Given the description of an element on the screen output the (x, y) to click on. 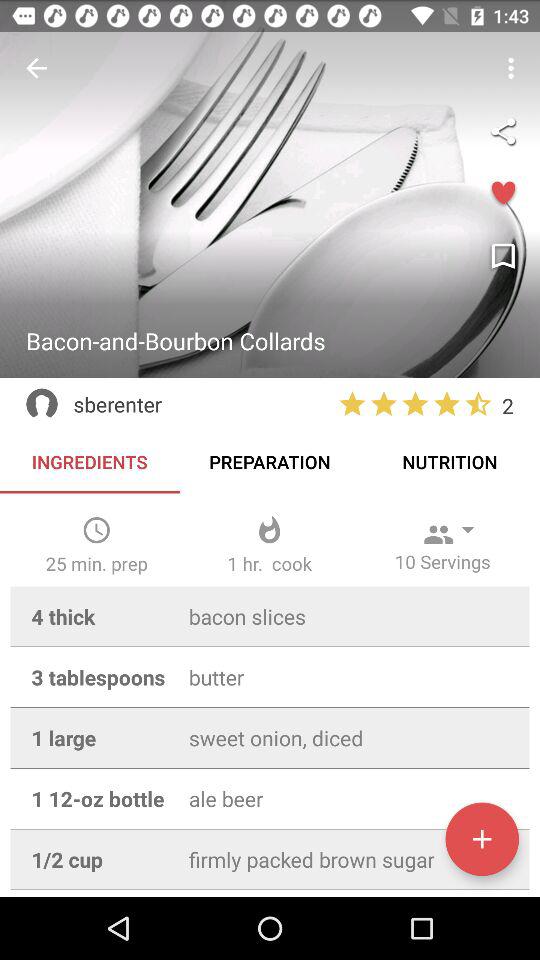
go back (36, 68)
